Given the description of an element on the screen output the (x, y) to click on. 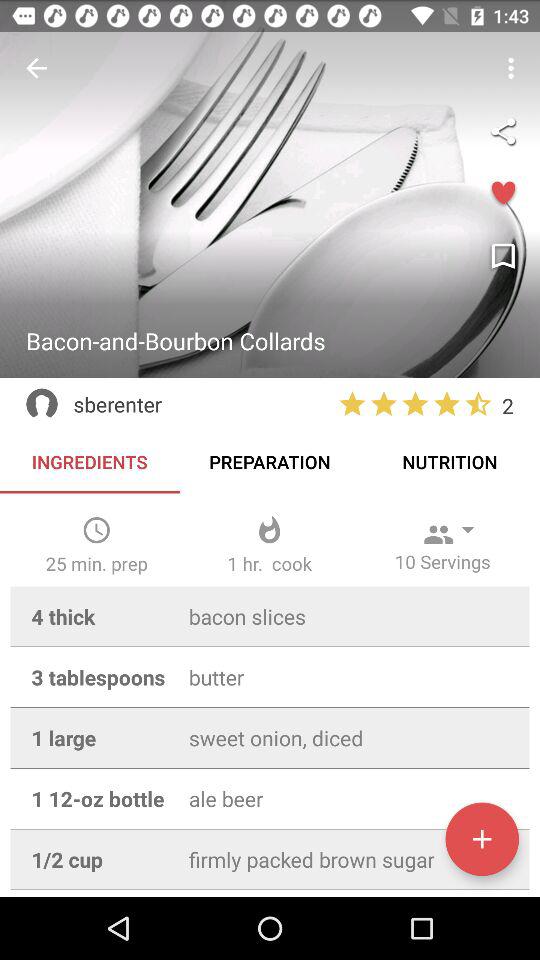
go back (36, 68)
